Given the description of an element on the screen output the (x, y) to click on. 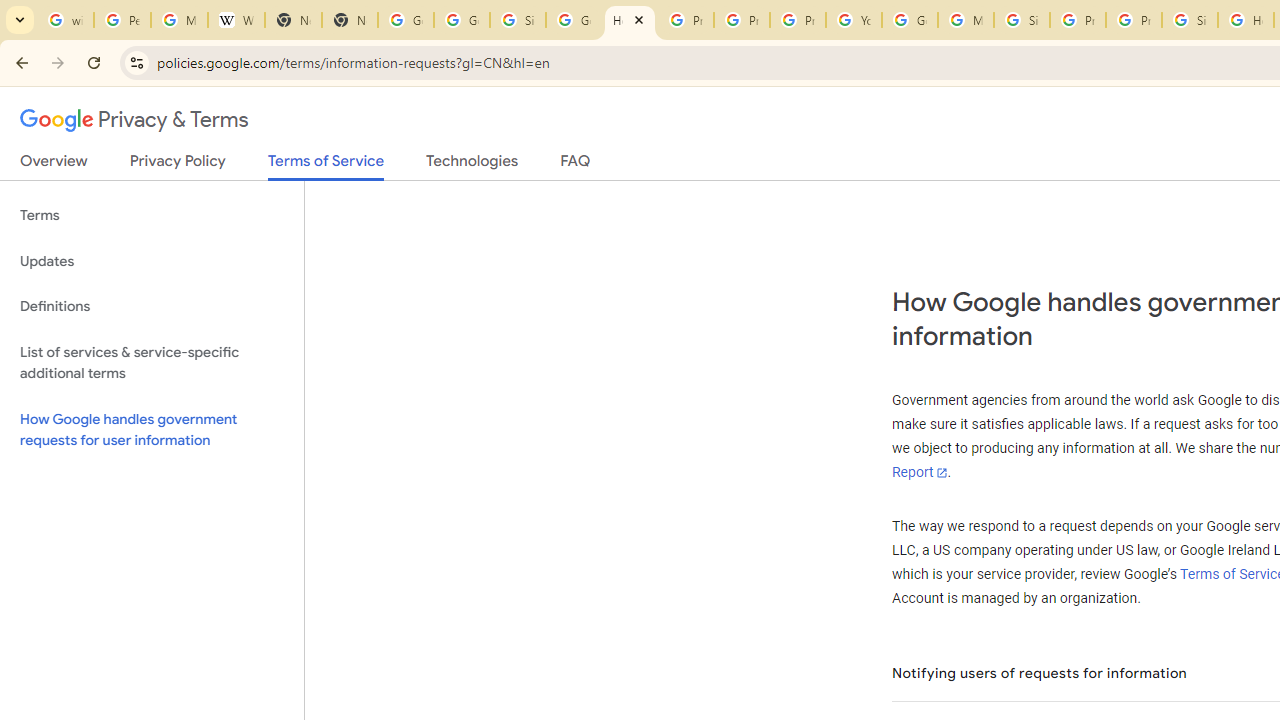
List of services & service-specific additional terms (152, 362)
Google Drive: Sign-in (461, 20)
Definitions (152, 306)
Manage your Location History - Google Search Help (179, 20)
